Given the description of an element on the screen output the (x, y) to click on. 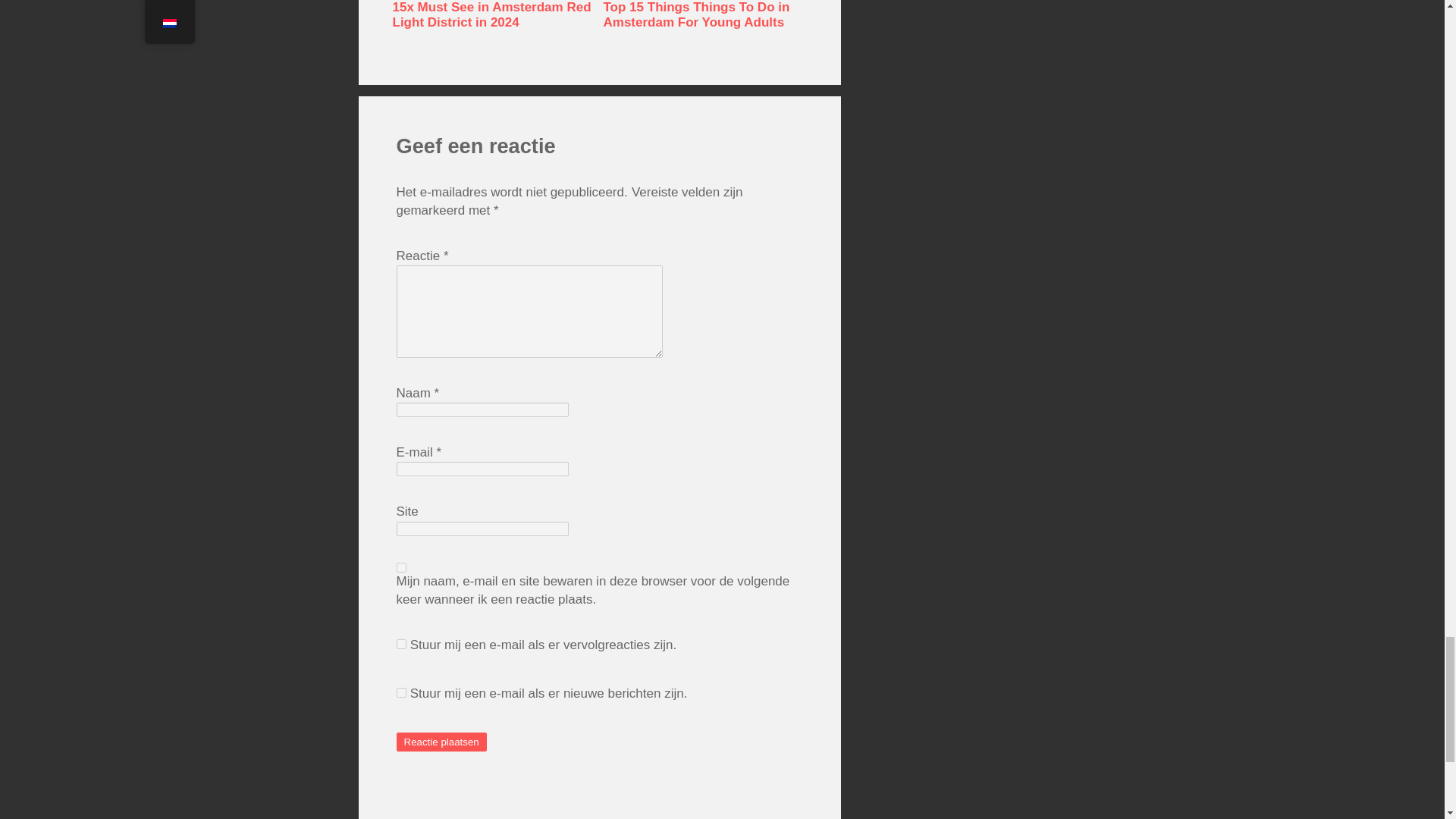
yes (401, 567)
Reactie plaatsen (441, 741)
subscribe (401, 692)
subscribe (401, 644)
